Given the description of an element on the screen output the (x, y) to click on. 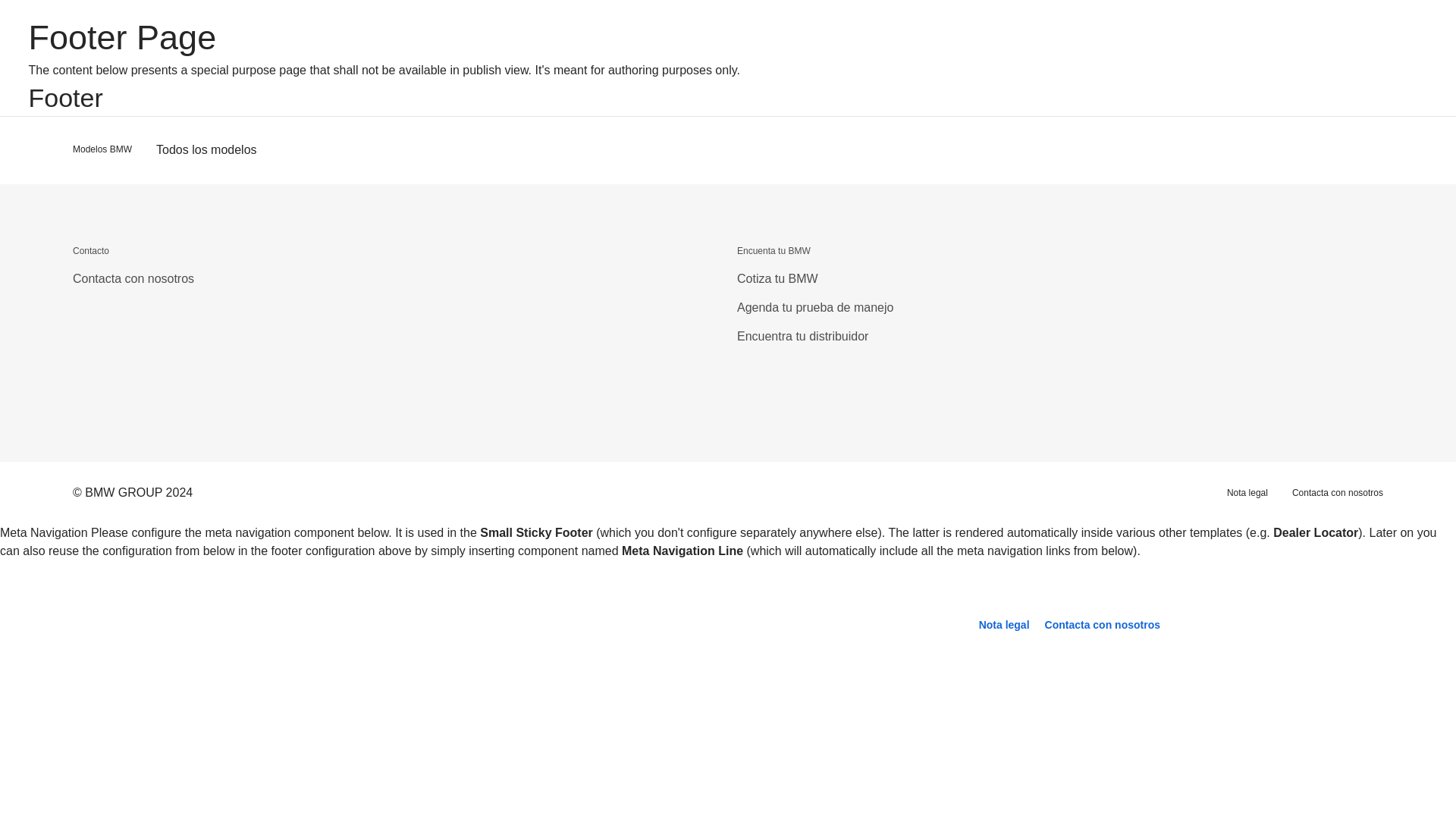
Nota legal (1003, 624)
Nota legal (1003, 624)
Encuentra tu distribuidor (801, 336)
Contacta con nosotros (1101, 624)
Contacta con nosotros (1337, 492)
Agenda tu prueba de manejo (814, 307)
Cotiza tu BMW (777, 278)
Todos los modelos (206, 149)
Contacta con nosotros (132, 278)
Nota legal (1247, 492)
Contacta con nosotros (1101, 624)
